Given the description of an element on the screen output the (x, y) to click on. 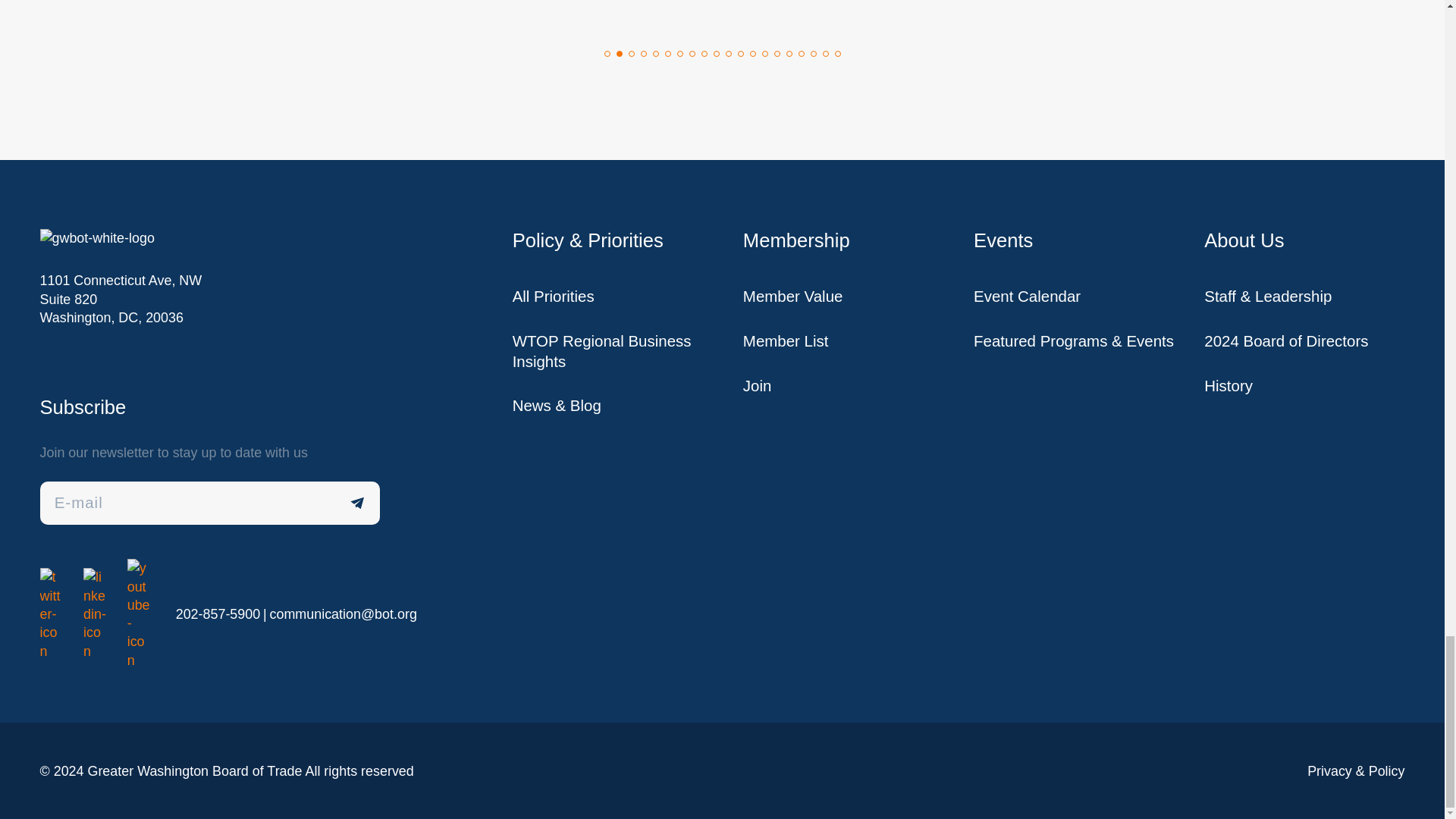
Send (358, 503)
